Given the description of an element on the screen output the (x, y) to click on. 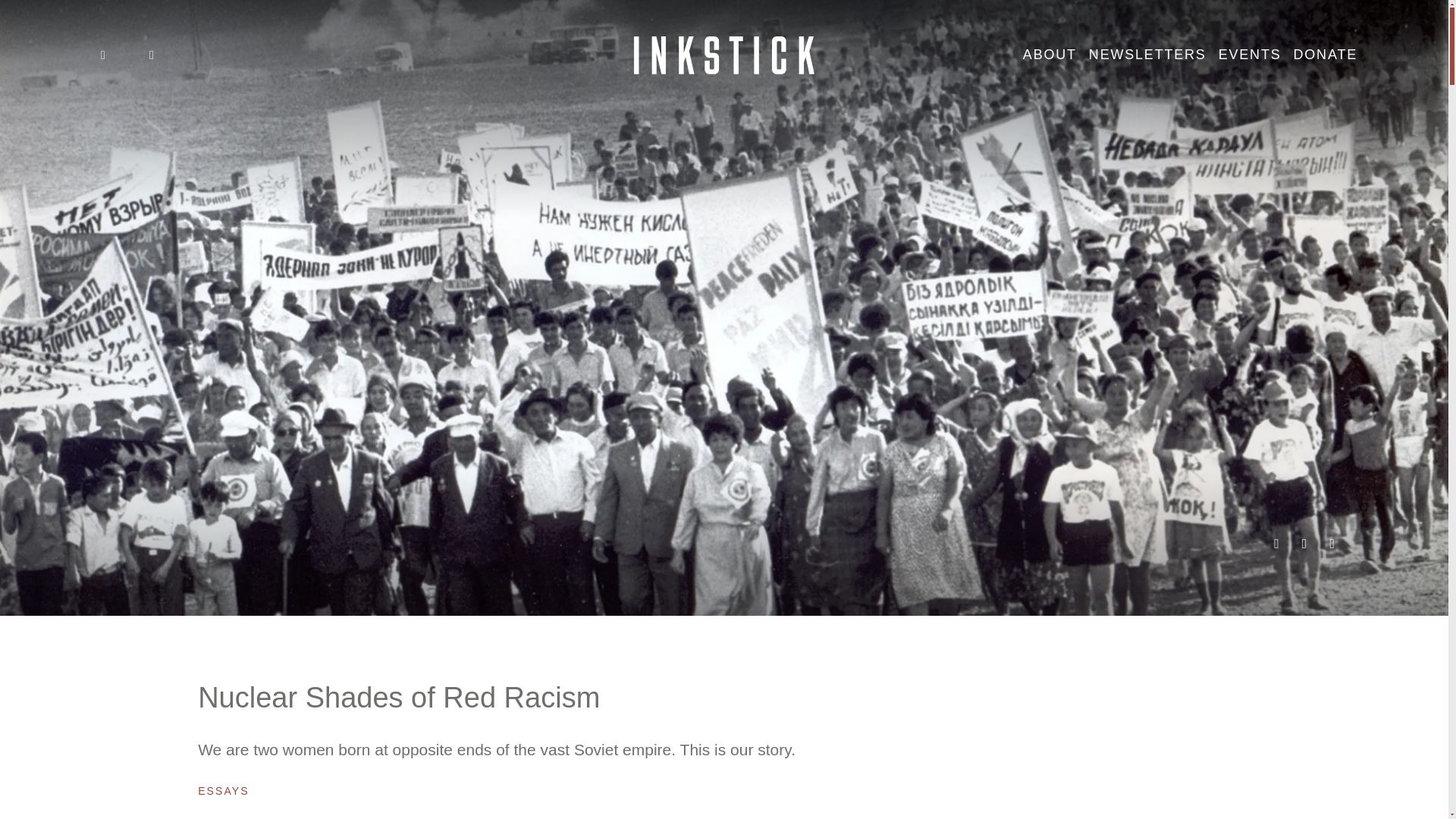
NEWSLETTERS (1148, 54)
ABOUT (1050, 54)
EVENTS (1249, 54)
DONATE (1325, 54)
